Given the description of an element on the screen output the (x, y) to click on. 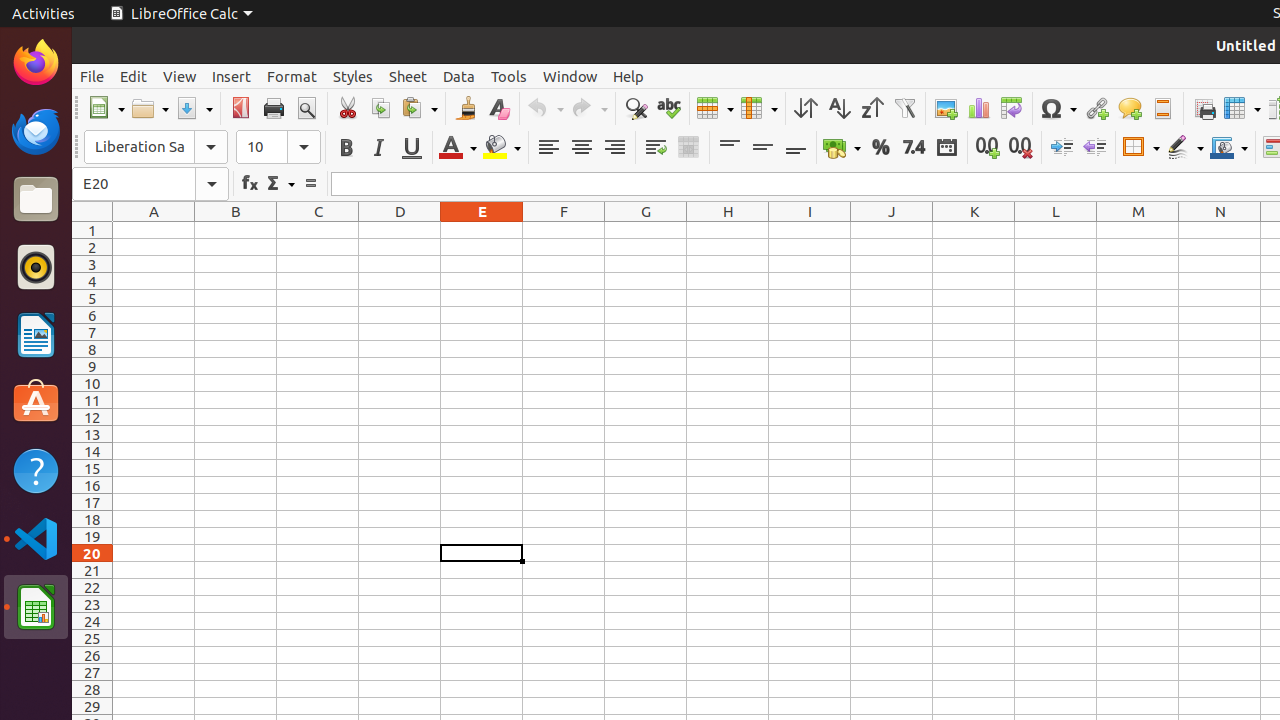
L1 Element type: table-cell (1056, 230)
H1 Element type: table-cell (728, 230)
Data Element type: menu (459, 76)
Font Name Element type: combo-box (156, 147)
Wrap Text Element type: push-button (655, 147)
